Given the description of an element on the screen output the (x, y) to click on. 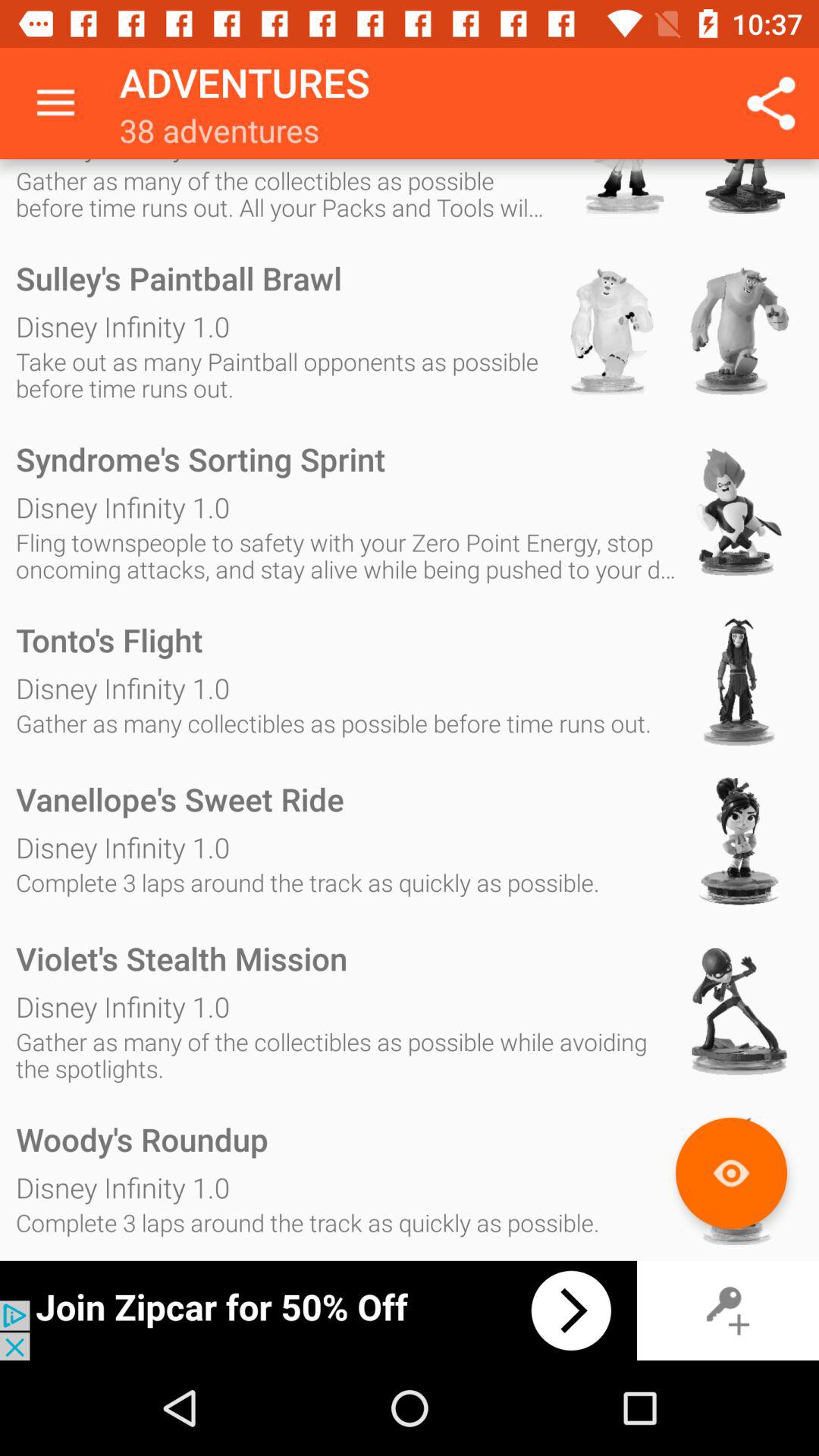
find location (731, 1173)
